Given the description of an element on the screen output the (x, y) to click on. 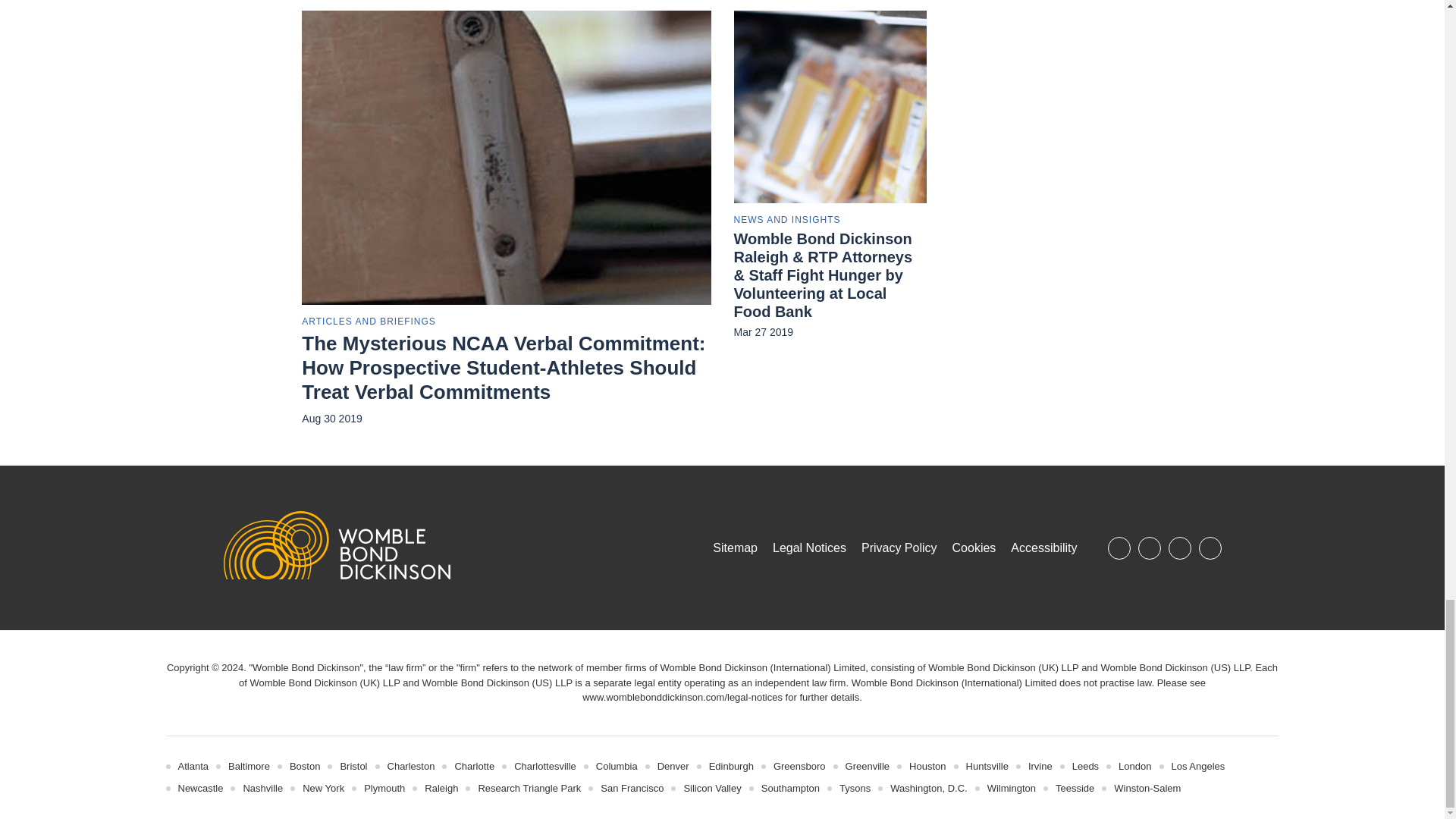
Charlotte, NC, US (474, 766)
Boston, MA, US (304, 766)
Edinburgh (731, 766)
Charlottesville, VA, US (544, 766)
Columbia, SC, US (616, 766)
Greensboro, NC, US (799, 766)
Houston, TX, US (926, 766)
Greenville, SC, US (867, 766)
Irvine, CA, US  (1039, 766)
Baltimore, MD, US (248, 766)
Atlanta, GA, US (192, 766)
Denver, CO, US (673, 766)
Charleston, SC, US (411, 766)
Bristol (352, 766)
Legal Notices (682, 696)
